Given the description of an element on the screen output the (x, y) to click on. 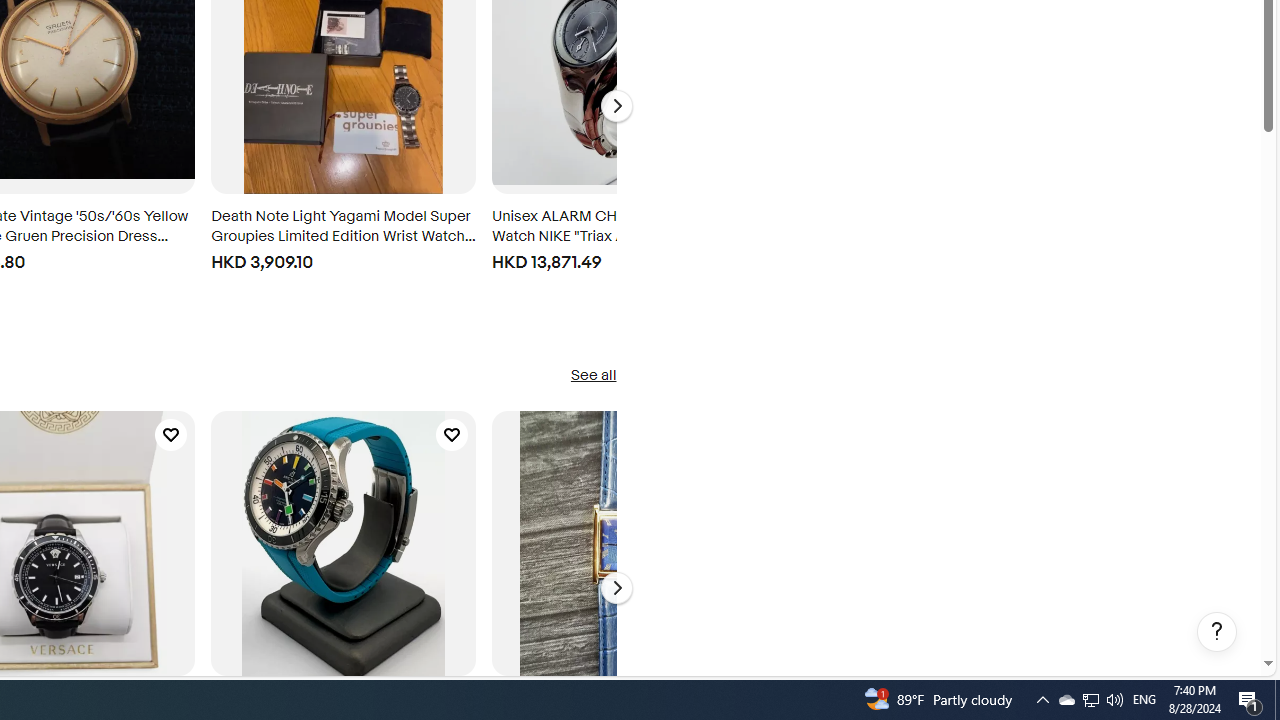
Help, opens dialogs (1217, 632)
See all (592, 376)
Go to the next slide, Your Recently Viewed Items - Carousel (616, 106)
Go to the next slide, Wristwatches - Carousel (616, 587)
Breitling Superocean Automatic 42 A17375211B2S1- Brand New (343, 542)
